Given the description of an element on the screen output the (x, y) to click on. 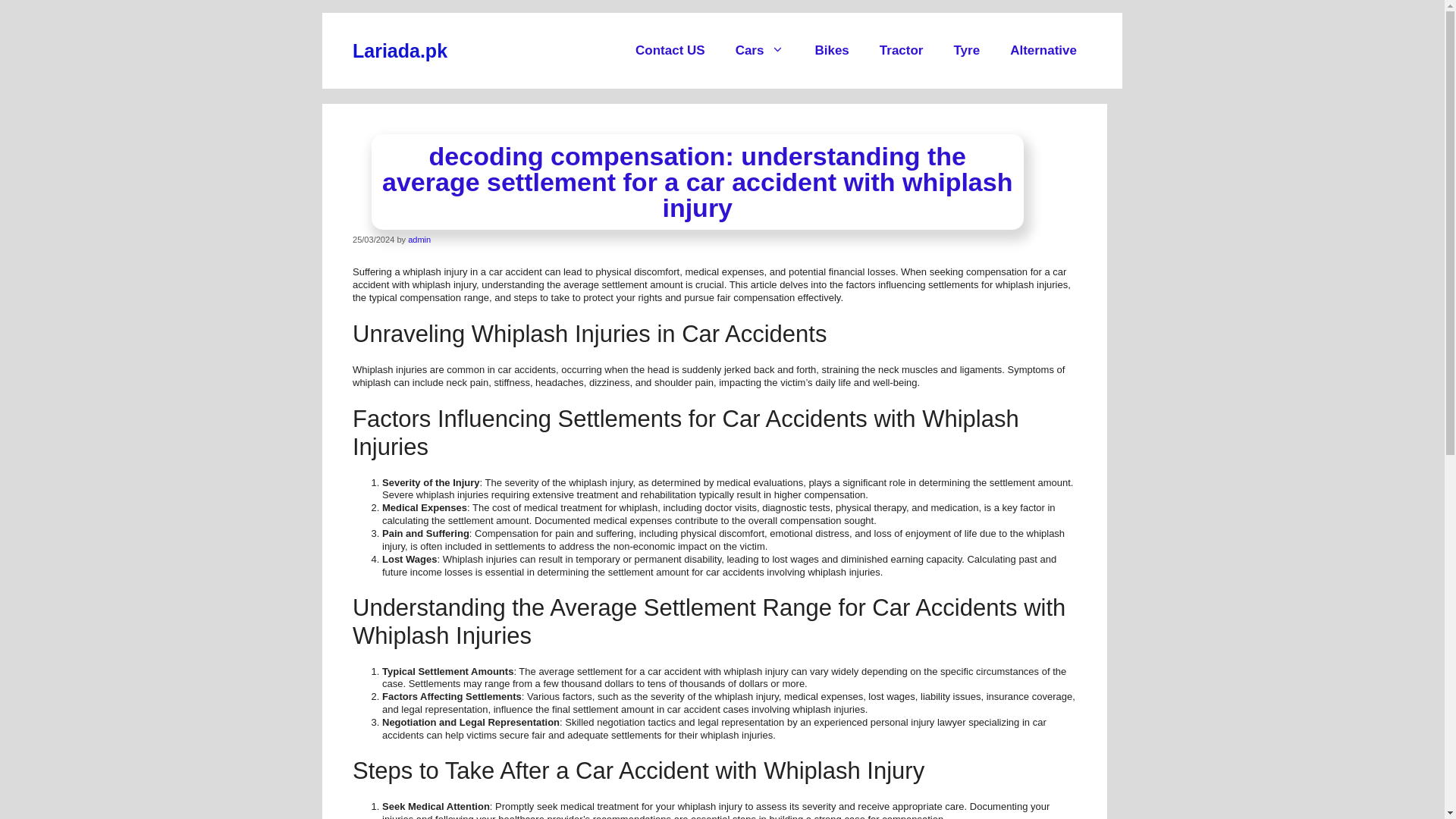
View all posts by admin (418, 239)
admin (418, 239)
Contact US (670, 50)
Alternative (1043, 50)
Tyre (965, 50)
Lariada.pk (399, 50)
Tractor (901, 50)
Cars (759, 50)
Bikes (831, 50)
